Given the description of an element on the screen output the (x, y) to click on. 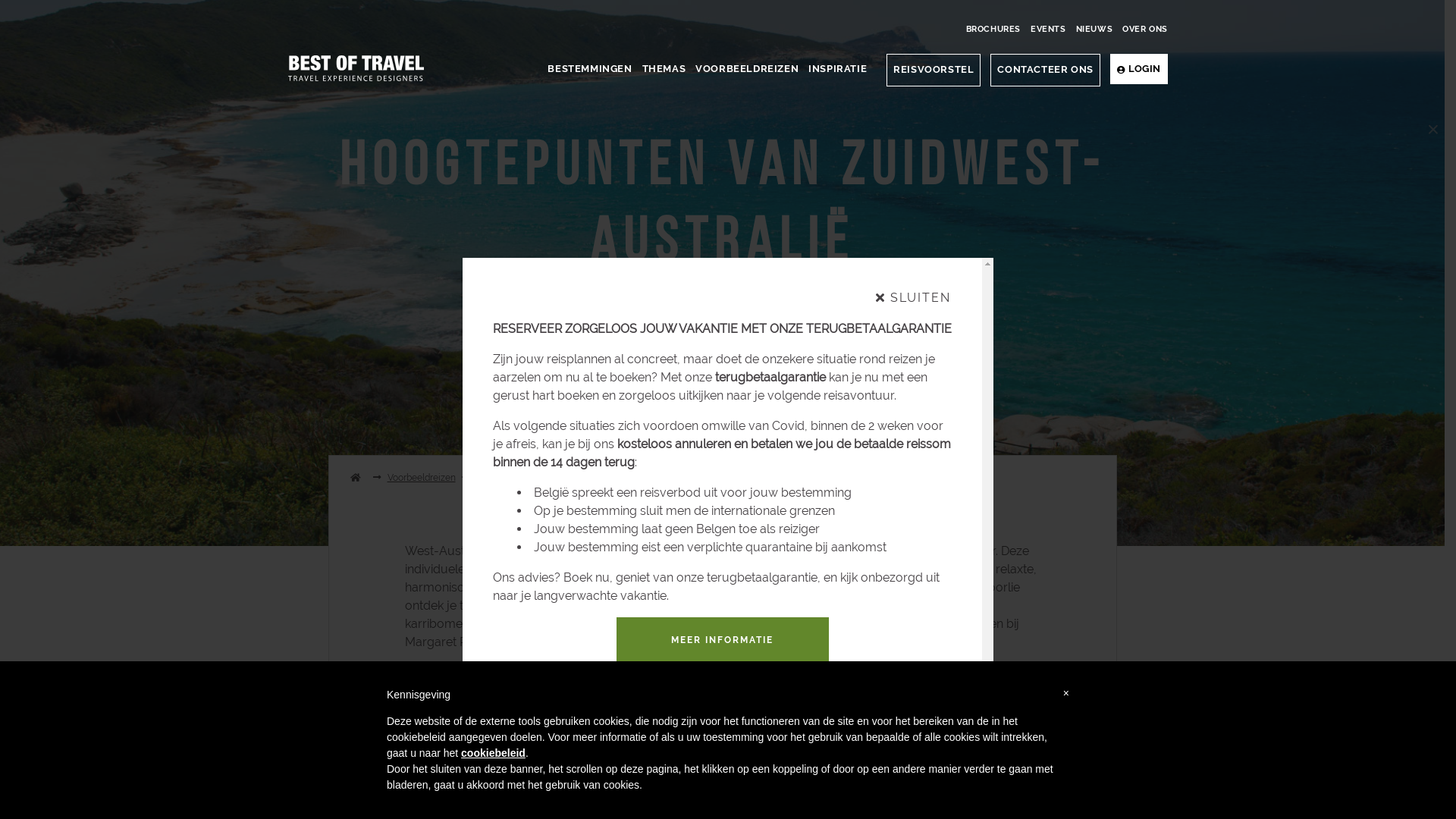
MEER INFORMATIE Element type: text (721, 640)
THEMAS Element type: text (664, 68)
NIEUWS Element type: text (1094, 29)
BESTEMMINGEN Element type: text (589, 68)
REIS MET HUURAUTO OF CAMPER Element type: text (658, 394)
NATUURREIS Element type: text (848, 394)
Voorbeeldreizen Element type: text (420, 477)
INSPIRATIE Element type: text (837, 68)
CONTACTEER ONS Element type: text (1044, 69)
cookiebeleid Element type: text (493, 752)
EVENTS Element type: text (1048, 29)
VOORBEELDREIZEN Element type: text (746, 68)
BROCHURES Element type: text (993, 29)
OVER ONS Element type: text (1144, 29)
REISVOORSTEL Element type: text (933, 69)
LOGIN Element type: text (1138, 68)
SLUITEN Element type: text (913, 297)
